Given the description of an element on the screen output the (x, y) to click on. 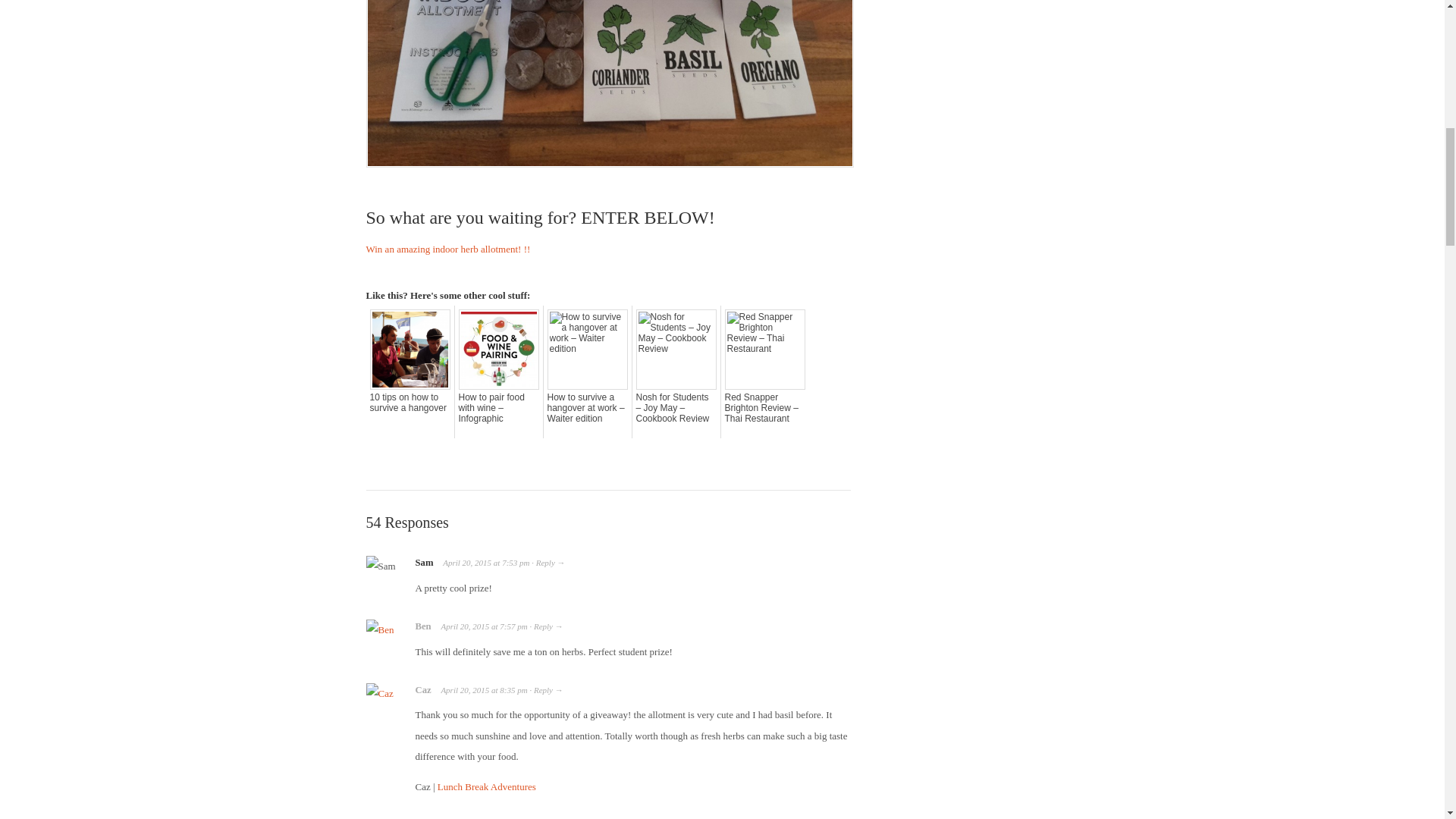
Caz (422, 689)
Ben (422, 625)
Monday, April 20th, 2015, 7:57 pm (465, 625)
Monday, April 20th, 2015, 7:53 pm (467, 562)
Monday, April 20th, 2015, 7:57 pm (513, 625)
Win an amazing indoor herb allotment! !! (447, 248)
Reply (544, 562)
Reply (543, 689)
10 tips on how to survive a hangover (409, 402)
Monday, April 20th, 2015, 7:53 pm (515, 562)
Reply (543, 625)
Lunch Break Adventures (486, 786)
